Given the description of an element on the screen output the (x, y) to click on. 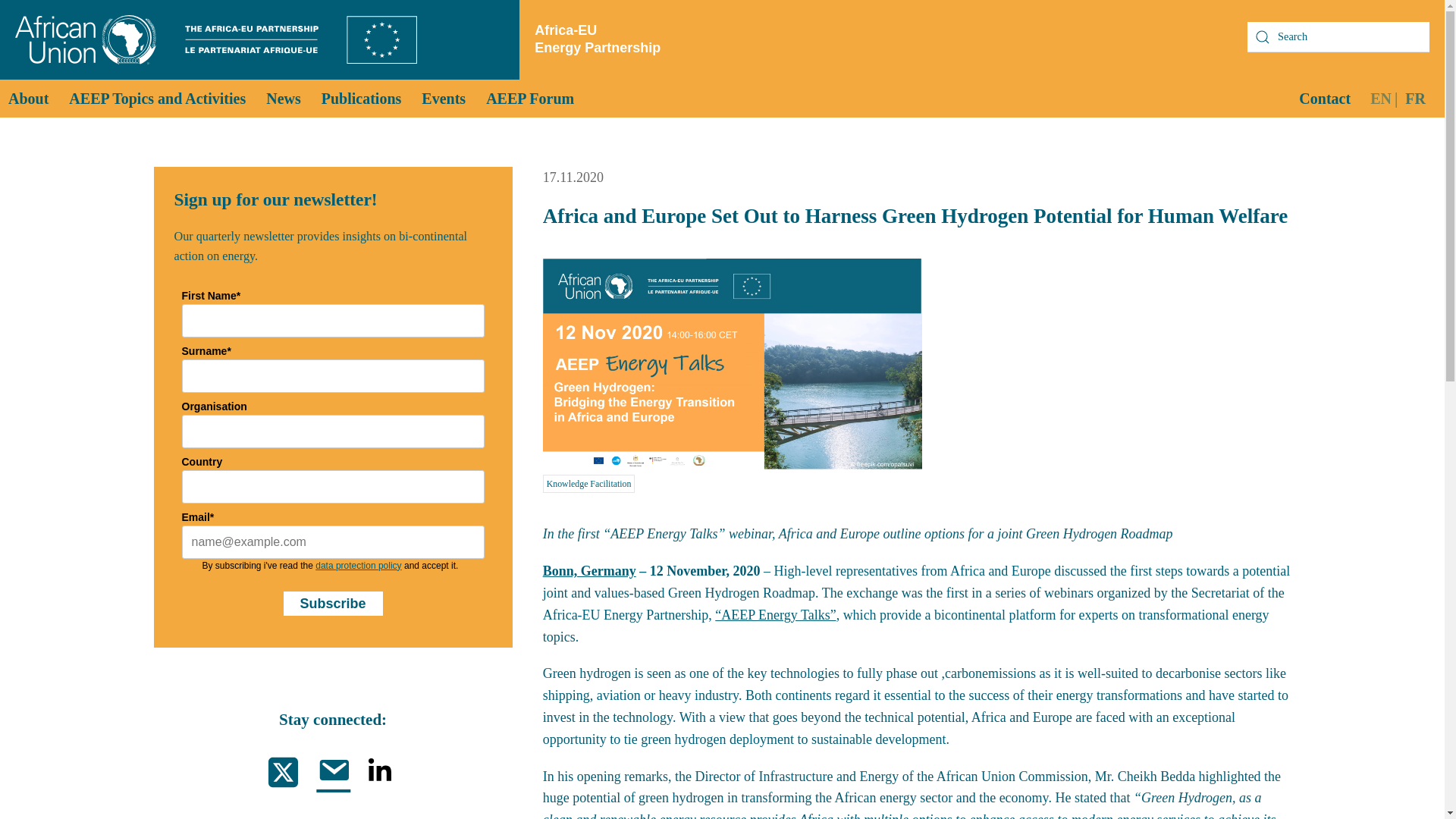
Events (442, 98)
News (282, 98)
AEEP Topics and Activities (157, 98)
AEEP Forum (529, 98)
About (28, 98)
Knowledge Facilitation (588, 484)
Publications (361, 98)
Contact (1324, 98)
